Given the description of an element on the screen output the (x, y) to click on. 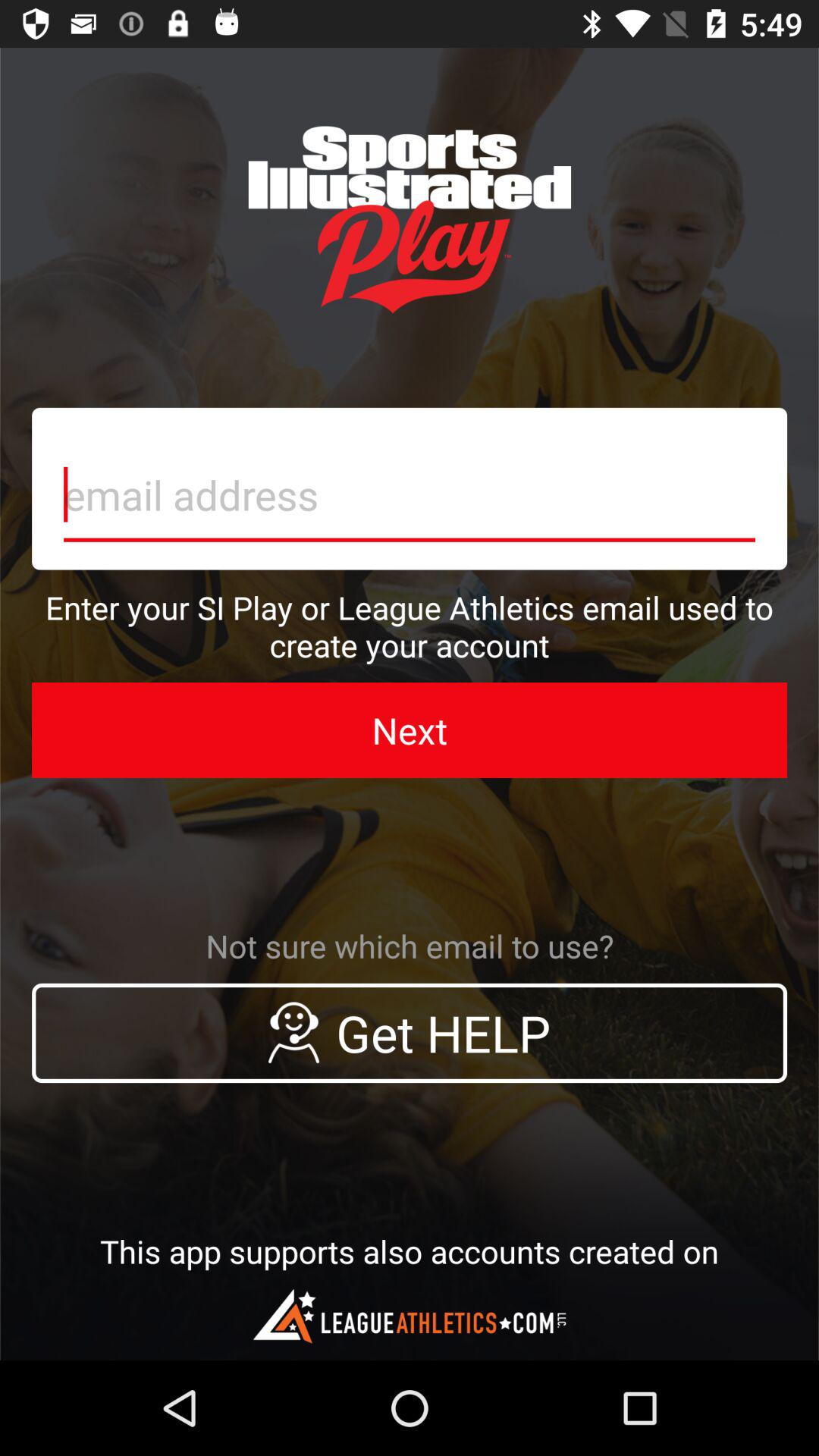
tap the item above enter your si item (409, 488)
